Given the description of an element on the screen output the (x, y) to click on. 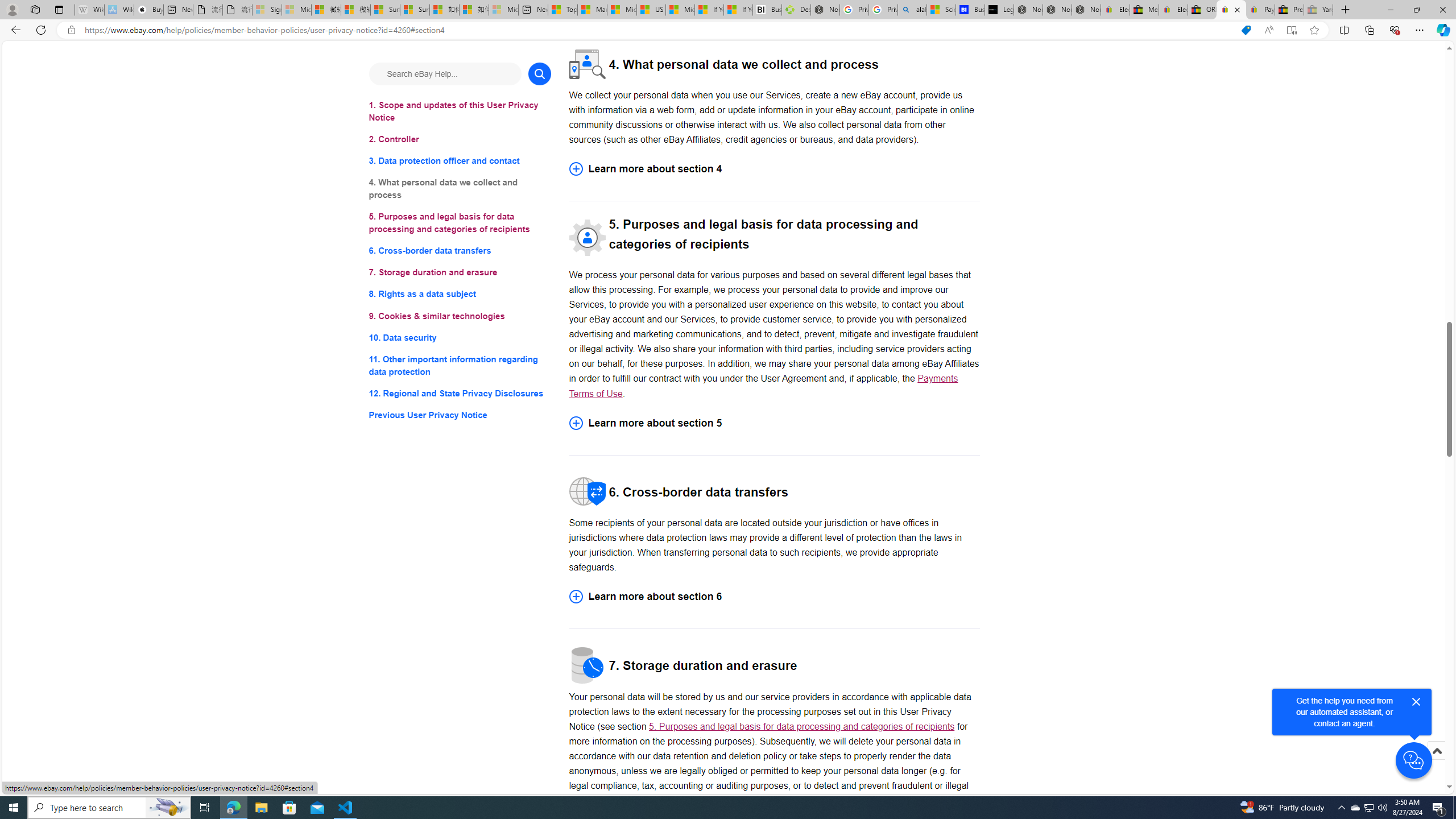
Descarga Driver Updater (796, 9)
Electronics, Cars, Fashion, Collectibles & More | eBay (1173, 9)
1. Scope and updates of this User Privacy Notice (459, 111)
10. Data security (459, 336)
Enter Immersive Reader (F9) (1291, 29)
4. What personal data we collect and process (459, 189)
3. Data protection officer and contact (459, 160)
alabama high school quarterback dies - Search (911, 9)
Payments Terms of Use | eBay.com (1259, 9)
